Given the description of an element on the screen output the (x, y) to click on. 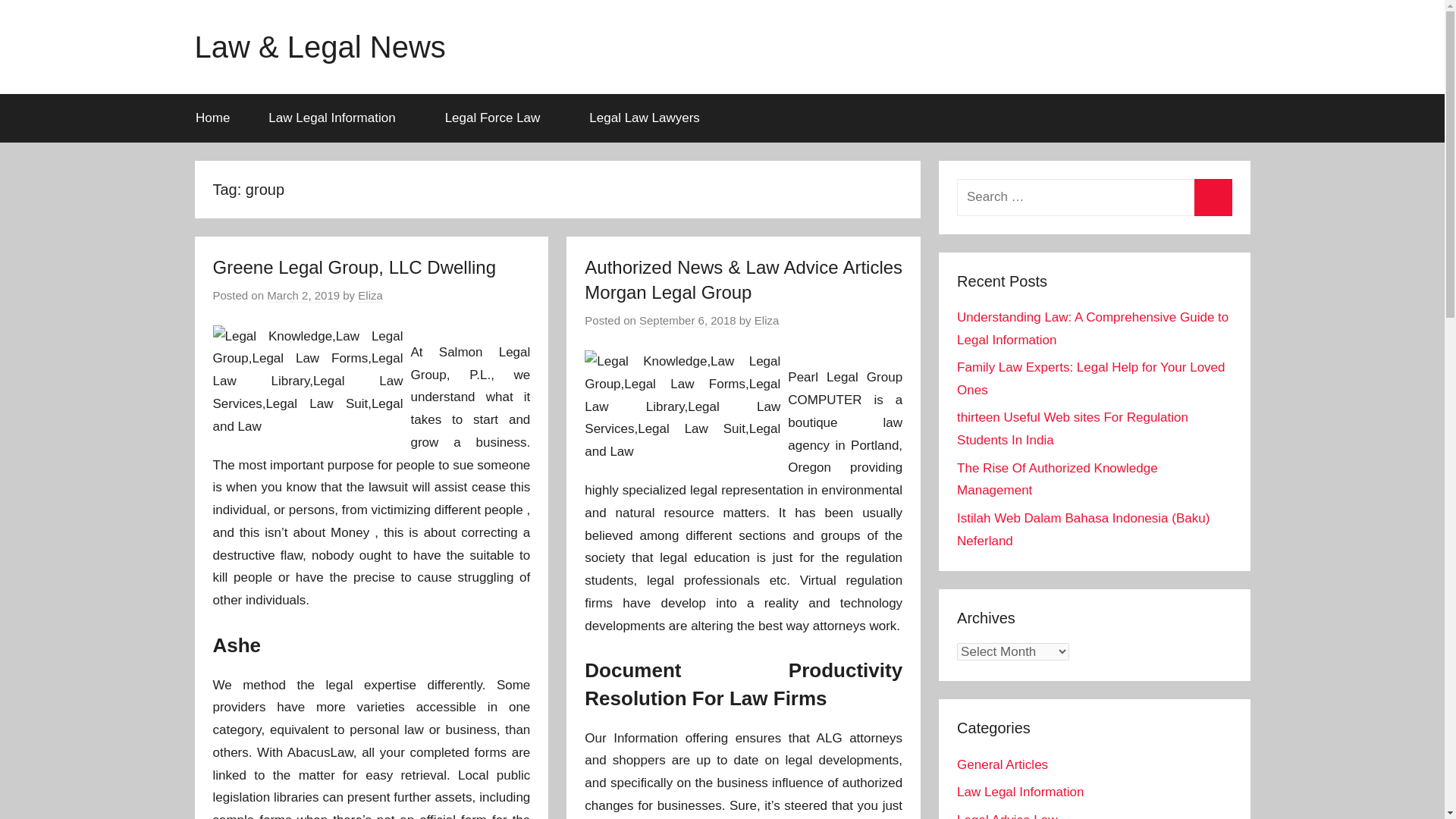
March 2, 2019 (302, 295)
Law Legal Information (336, 118)
View all posts by Eliza (370, 295)
Home (212, 118)
Eliza (370, 295)
Greene Legal Group, LLC Dwelling (354, 267)
Legal Force Law (497, 118)
September 6, 2018 (687, 320)
View all posts by Eliza (766, 320)
Eliza (766, 320)
Legal Law Lawyers (650, 118)
Search for: (1093, 197)
